Given the description of an element on the screen output the (x, y) to click on. 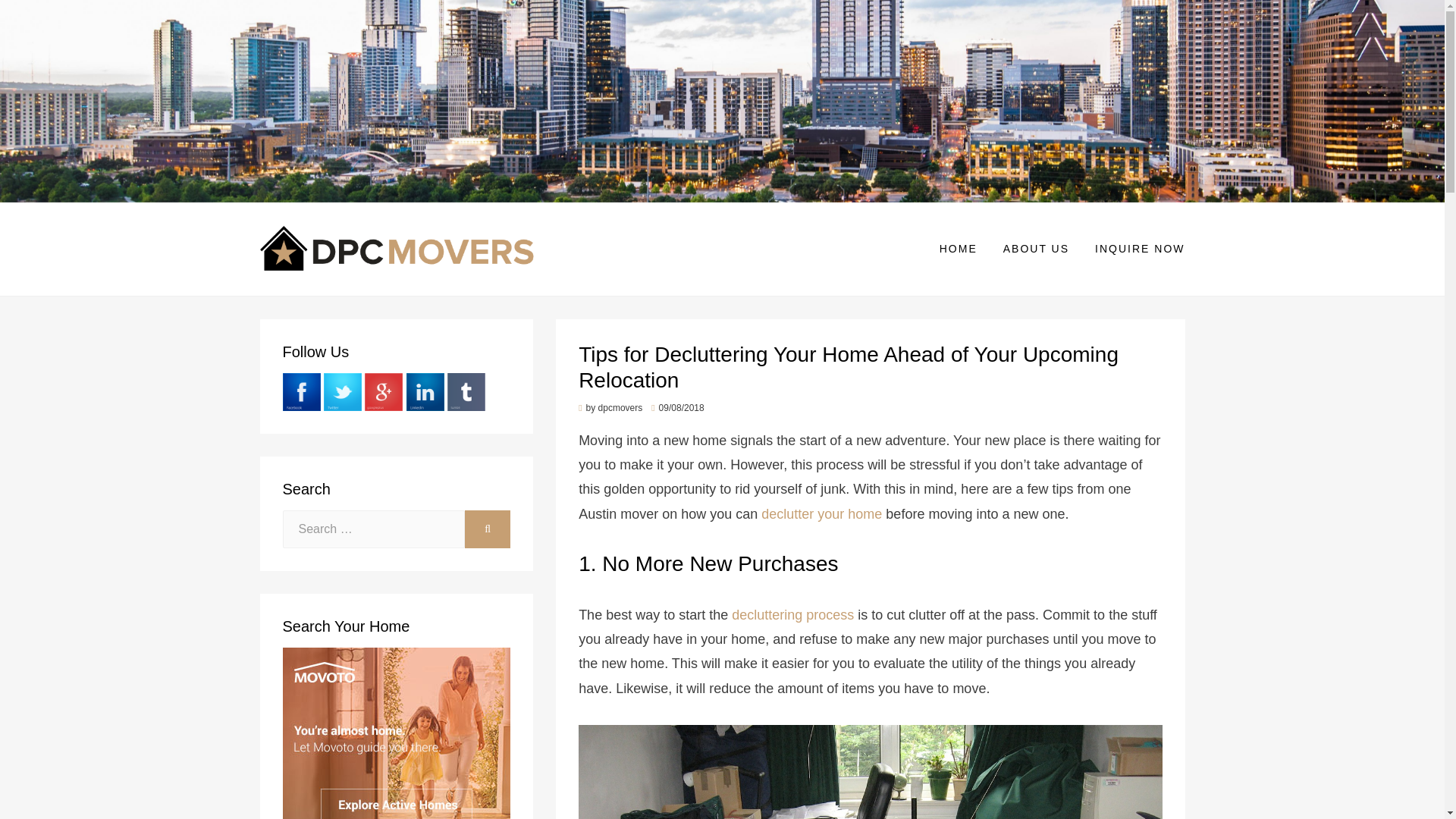
Search for: (373, 528)
SEARCH (487, 528)
ABOUT US (1035, 248)
INQUIRE NOW (1133, 248)
declutter your home (821, 513)
HOME (958, 248)
dpcmovers (620, 407)
decluttering process (792, 614)
